Given the description of an element on the screen output the (x, y) to click on. 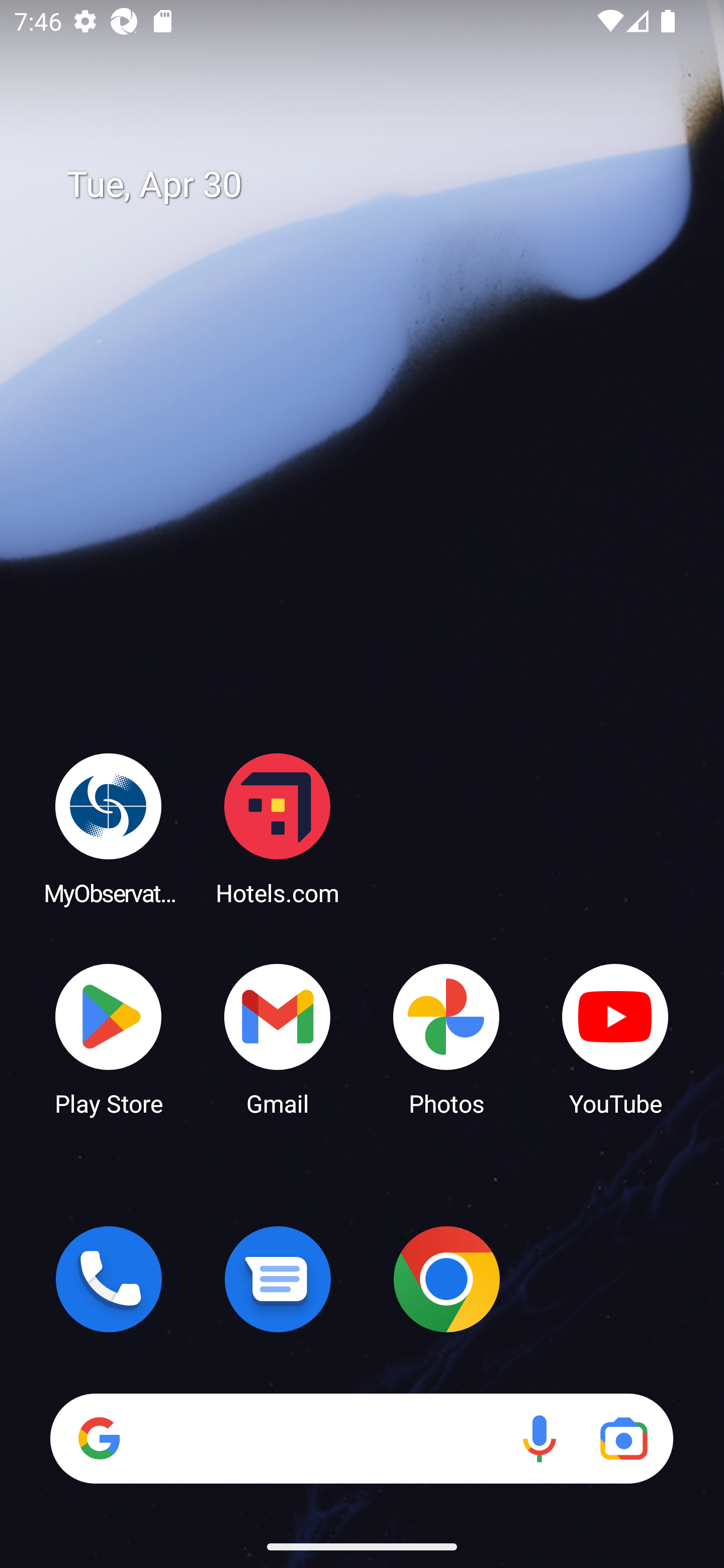
Tue, Apr 30 (375, 184)
MyObservatory (108, 828)
Hotels.com (277, 828)
Play Store (108, 1038)
Gmail (277, 1038)
Photos (445, 1038)
YouTube (615, 1038)
Phone (108, 1279)
Messages (277, 1279)
Chrome (446, 1279)
Voice search (539, 1438)
Google Lens (623, 1438)
